Given the description of an element on the screen output the (x, y) to click on. 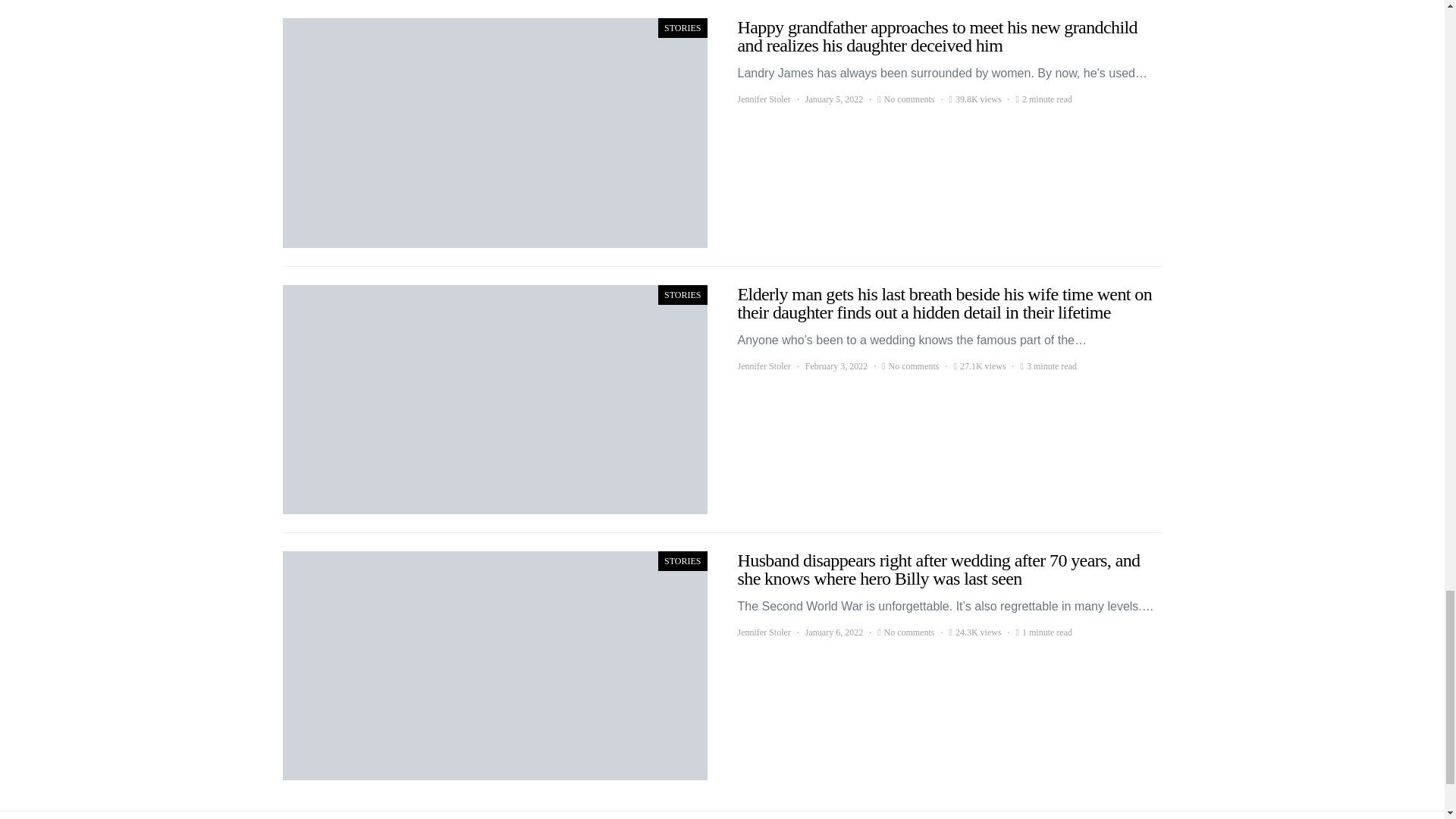
Jennifer Stoler (763, 99)
STORIES (682, 27)
No comments (908, 99)
STORIES (682, 560)
View all posts by Jennifer Stoler (763, 632)
STORIES (682, 294)
Jennifer Stoler (763, 632)
View all posts by Jennifer Stoler (763, 366)
Jennifer Stoler (763, 366)
View all posts by Jennifer Stoler (763, 99)
